Given the description of an element on the screen output the (x, y) to click on. 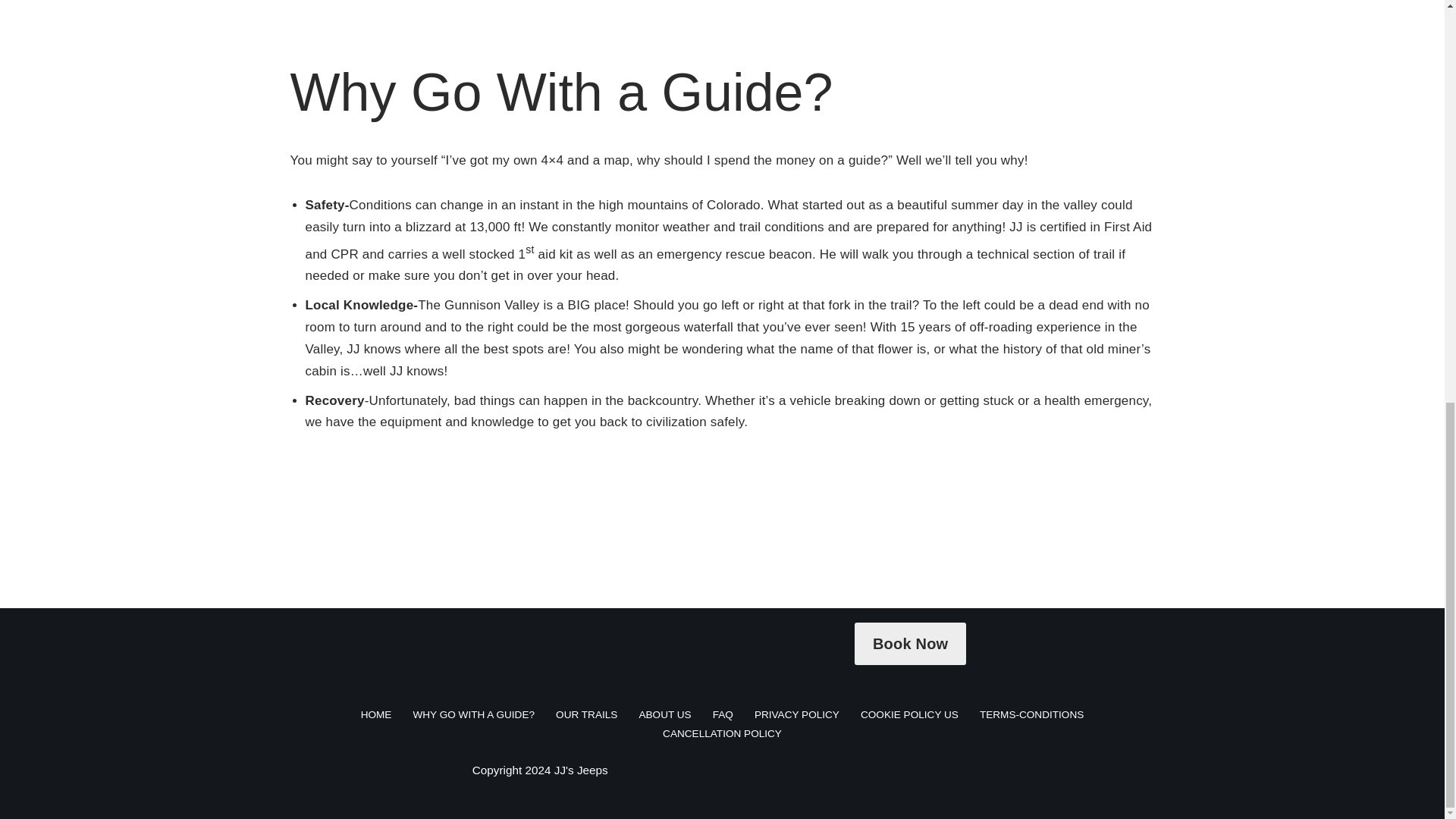
FareHarbor (1342, 90)
ABOUT US (664, 714)
Book Now (910, 643)
CANCELLATION POLICY (721, 732)
PRIVACY POLICY (797, 714)
OUR TRAILS (586, 714)
TERMS-CONDITIONS (1031, 714)
COOKIE POLICY US (909, 714)
HOME (376, 714)
WHY GO WITH A GUIDE? (473, 714)
